Given the description of an element on the screen output the (x, y) to click on. 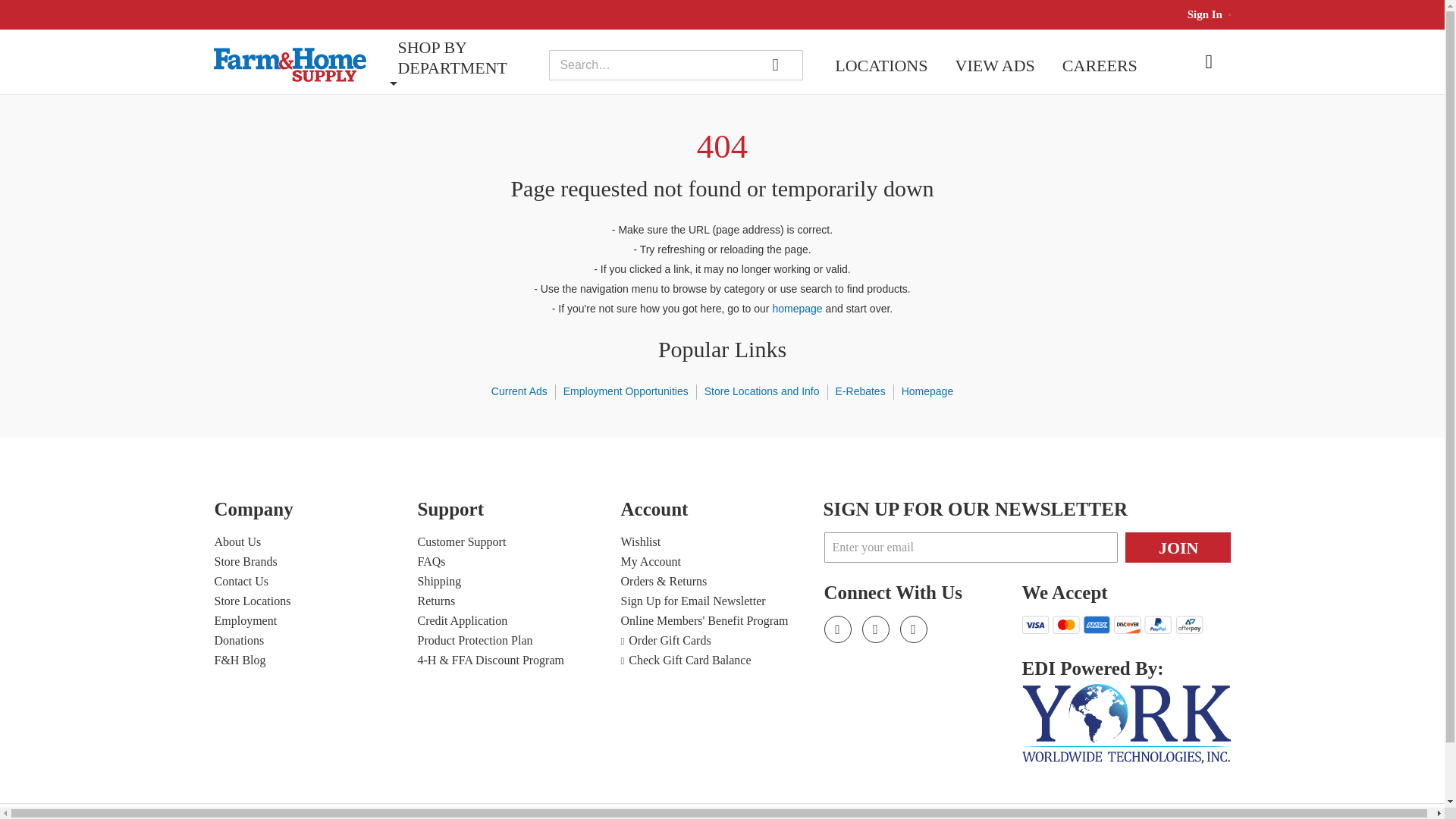
Sign In (1205, 14)
logo, call 217-214-9448 for assistance (298, 64)
SHOP BY DEPARTMENT (465, 56)
